Given the description of an element on the screen output the (x, y) to click on. 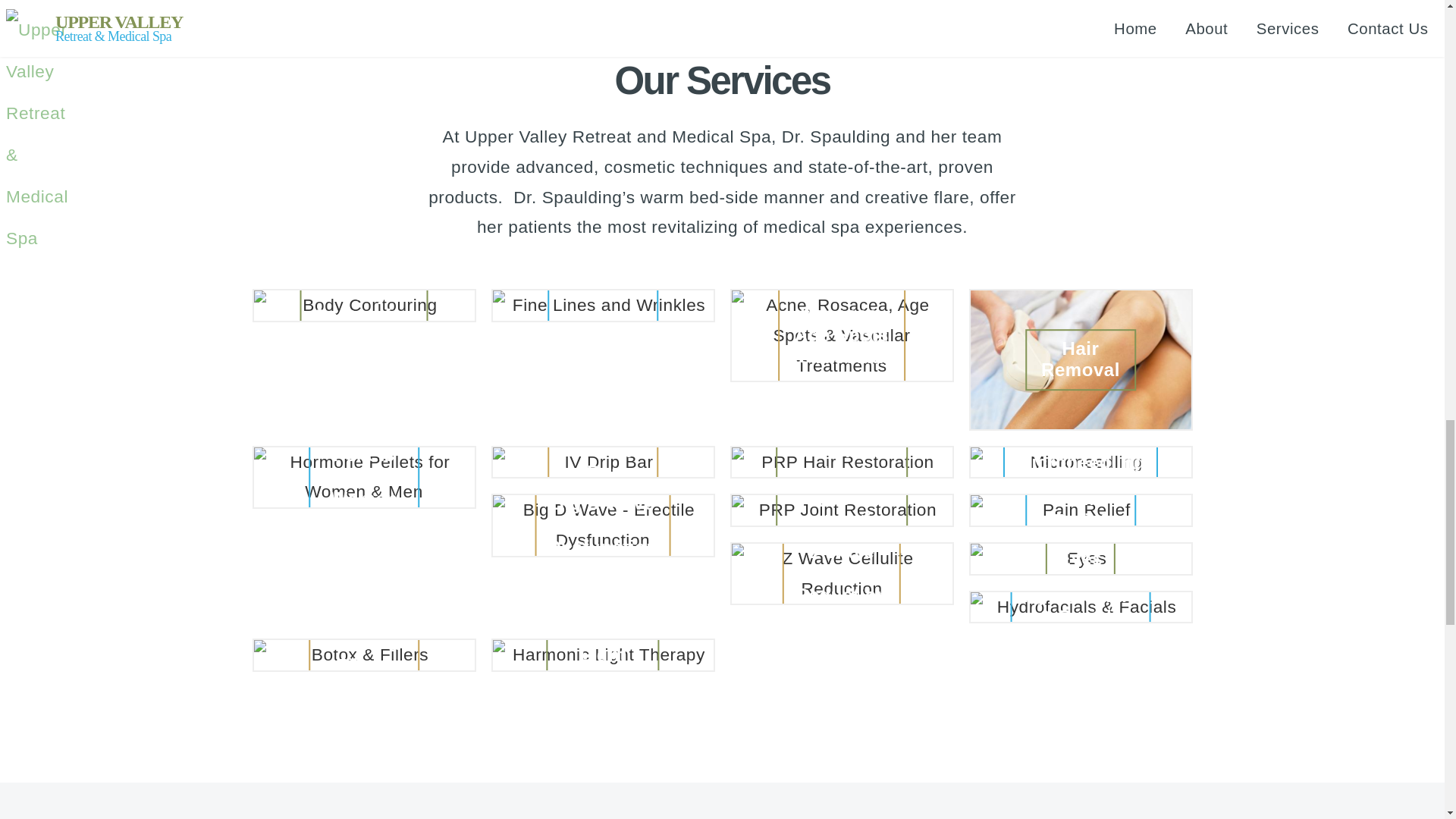
Hair Removal (1081, 359)
Eyes (1080, 558)
PRP Joint Restoration (841, 510)
Big D Wave - Erectile Dysfunction (603, 524)
PRP Joint Restoration (841, 510)
PRP Hair Restoration (841, 462)
Z Wave Cellulite Reduction (841, 573)
Harmonic Light Therapy (603, 654)
Eyes (1081, 558)
Body Contouring (363, 305)
